Given the description of an element on the screen output the (x, y) to click on. 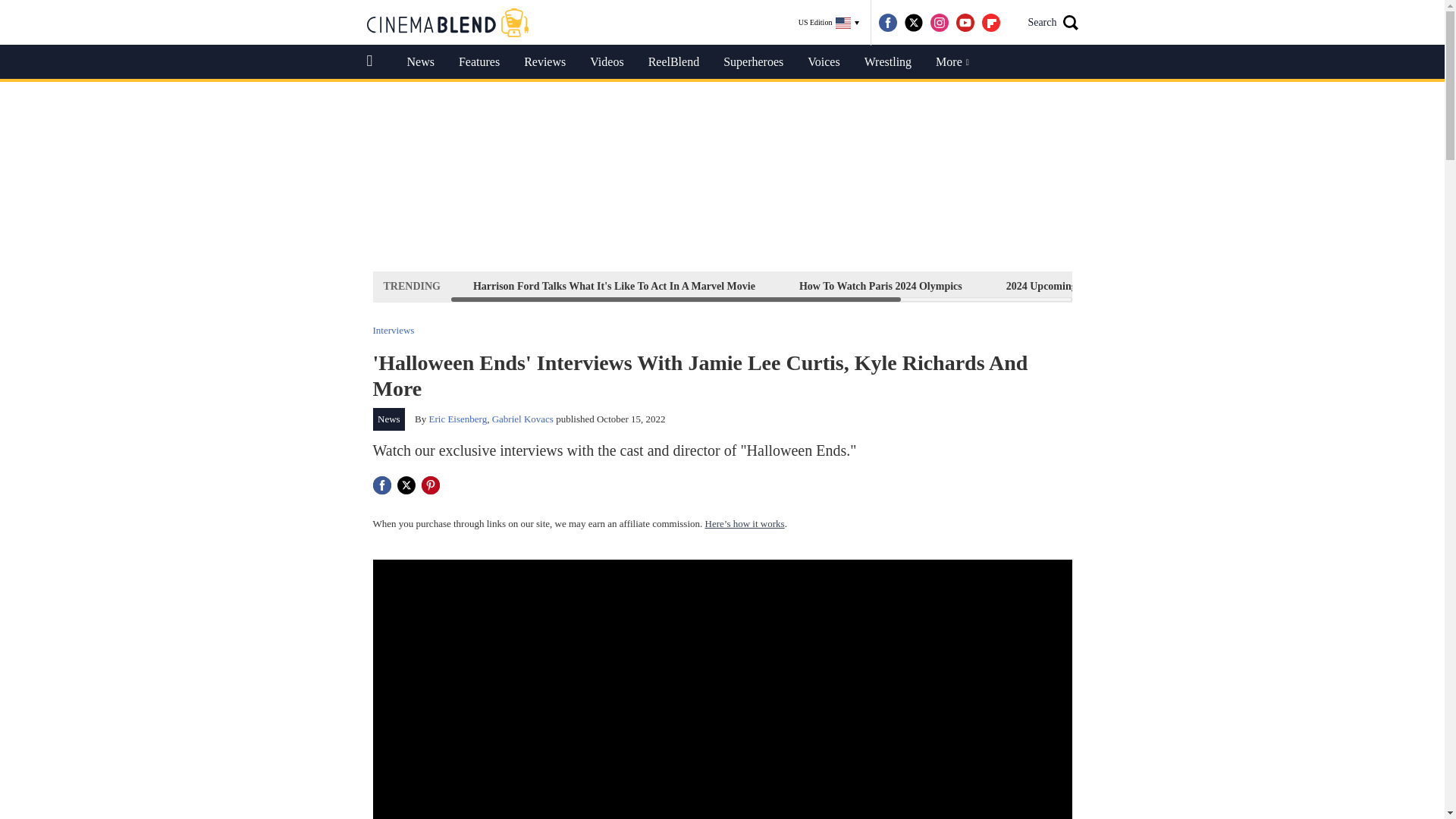
Harrison Ford Talks What It's Like To Act In A Marvel Movie (613, 286)
Videos (606, 61)
News (389, 418)
How To Watch Paris 2024 Olympics (880, 286)
Interviews (393, 329)
Reviews (545, 61)
100 Best Sitcoms Of All Time (1221, 286)
ReelBlend (673, 61)
Voices (822, 61)
2024 Upcoming Movies (1058, 286)
Wrestling (887, 61)
News (419, 61)
US Edition (828, 22)
Features (479, 61)
Superheroes (752, 61)
